Given the description of an element on the screen output the (x, y) to click on. 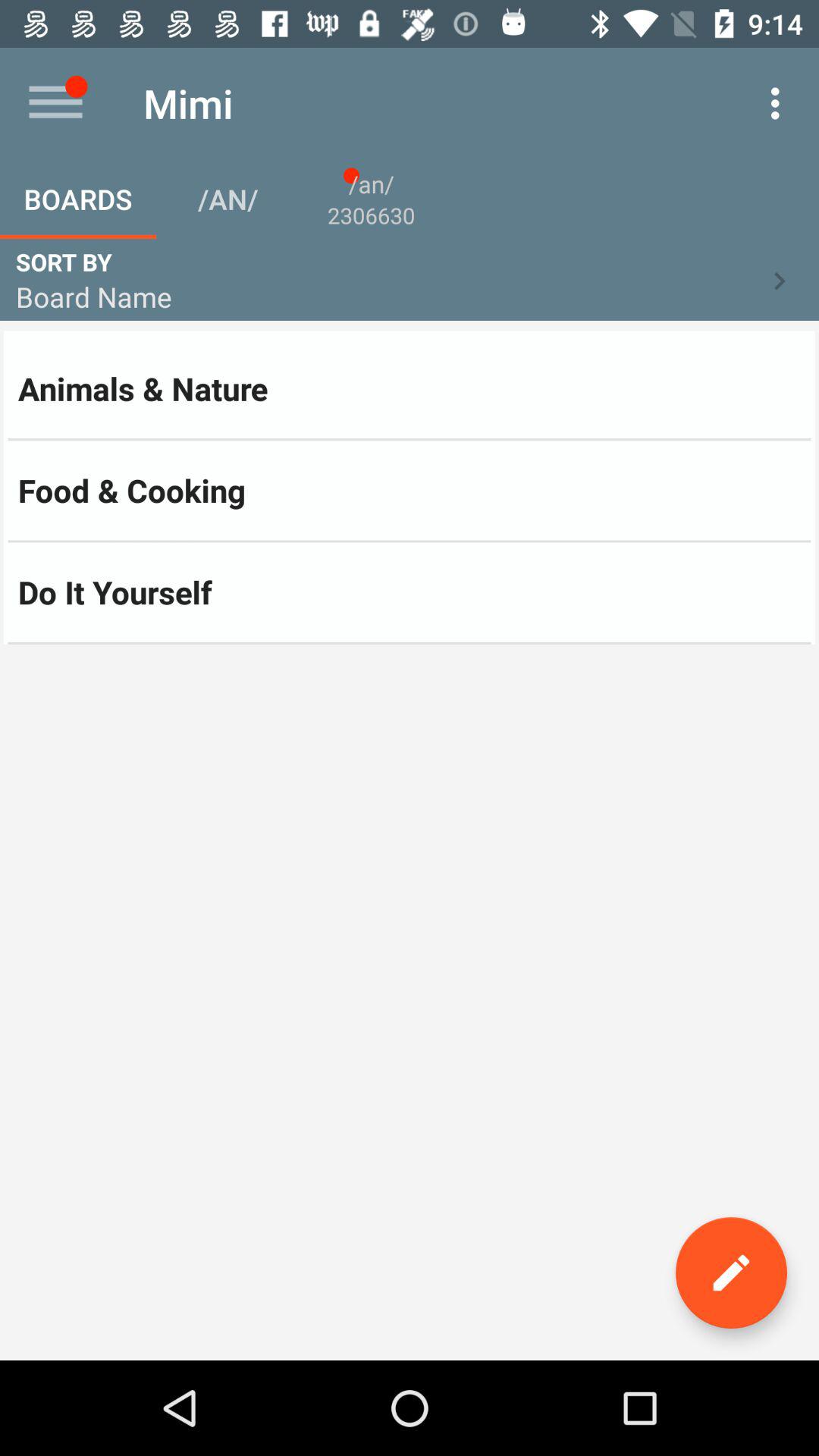
turn off item above boards (55, 103)
